Given the description of an element on the screen output the (x, y) to click on. 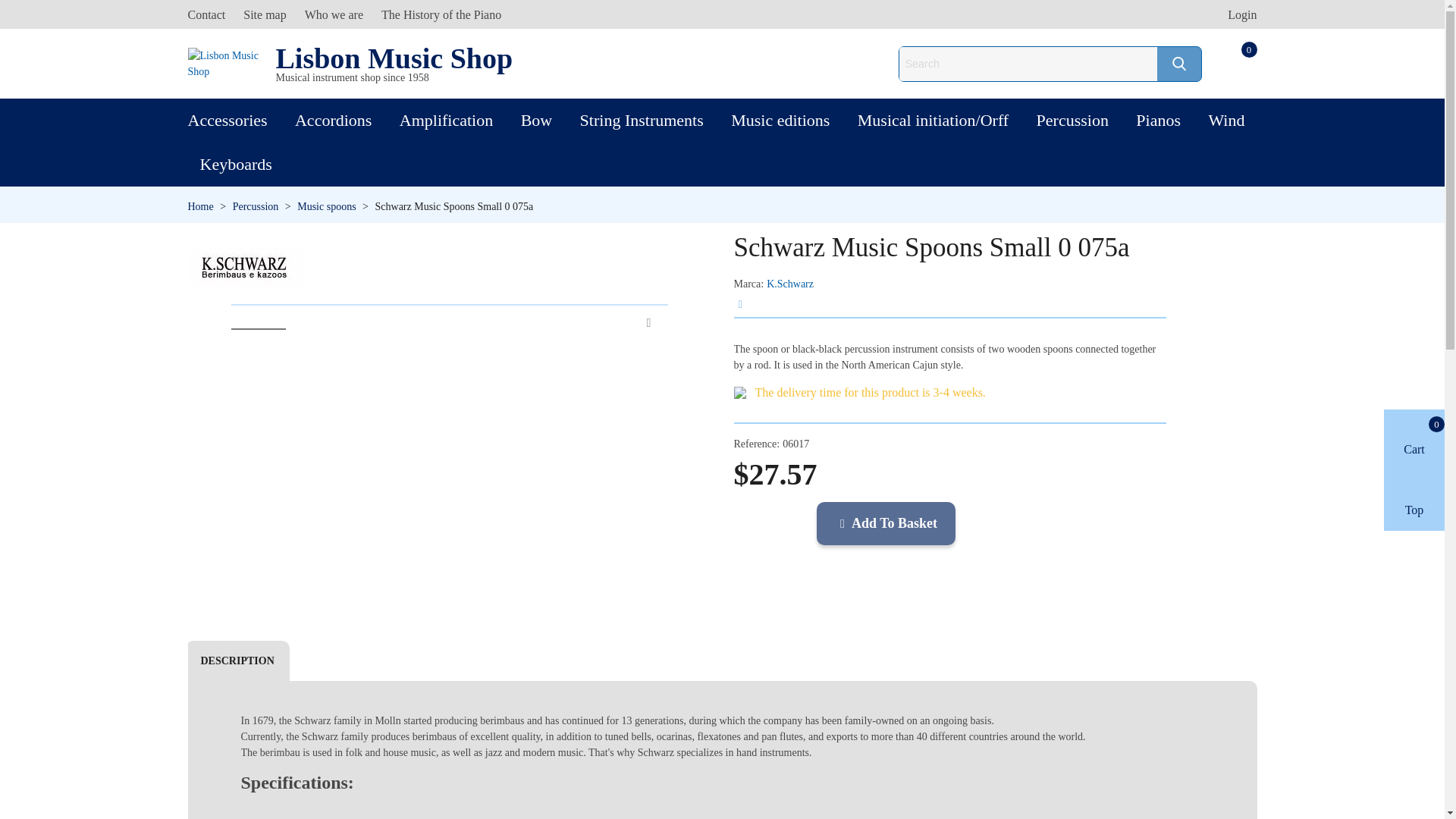
The History of the Piano (441, 14)
Keyboards (235, 164)
View my shopping cart (1235, 63)
Music editions (780, 120)
Wind (1225, 120)
Percussion (256, 206)
Lisbon Music Shop (225, 63)
Bow (536, 120)
Site map (264, 14)
Amplification (446, 120)
